Given the description of an element on the screen output the (x, y) to click on. 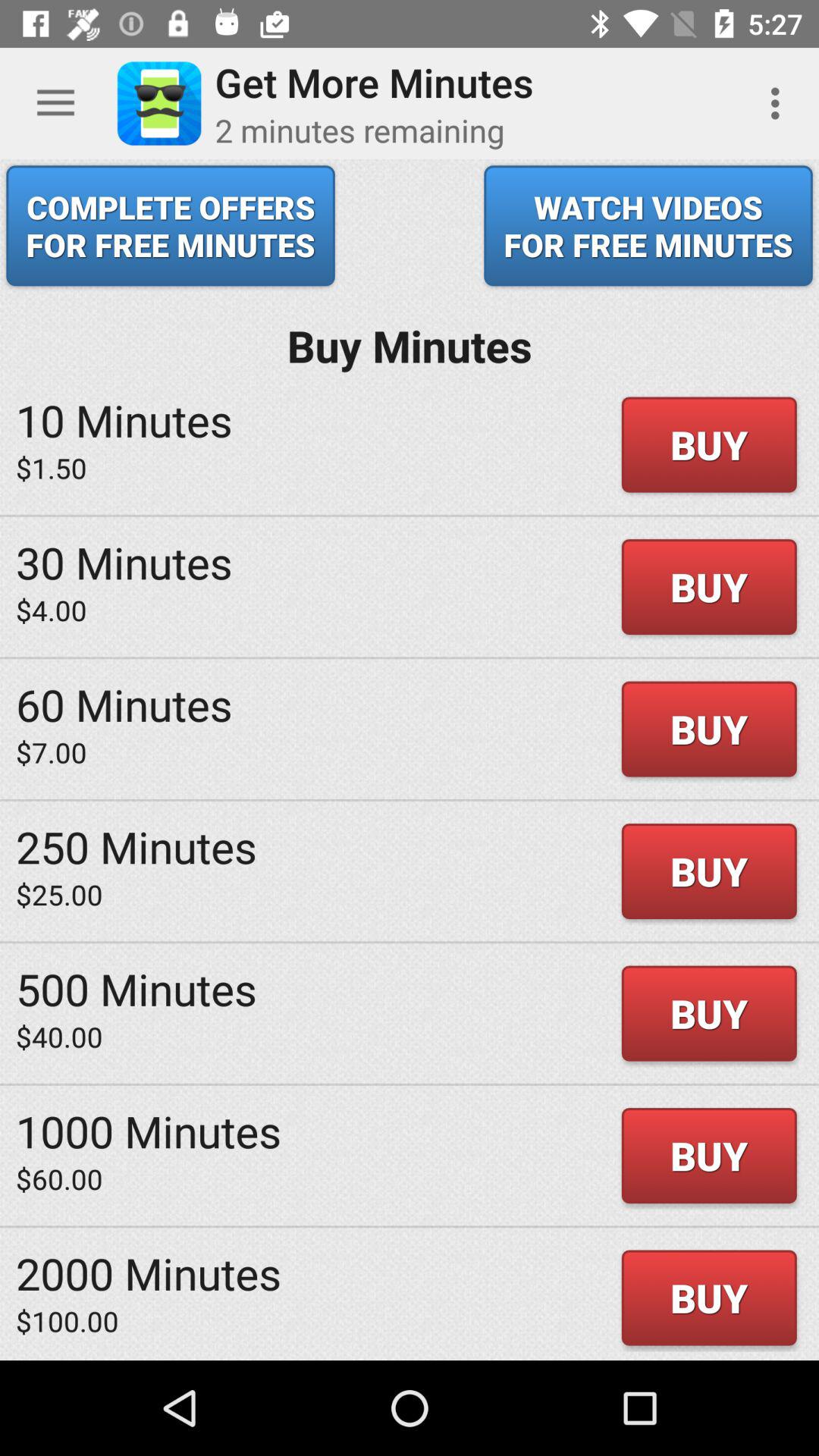
choose the 1000 minutes (148, 1130)
